Given the description of an element on the screen output the (x, y) to click on. 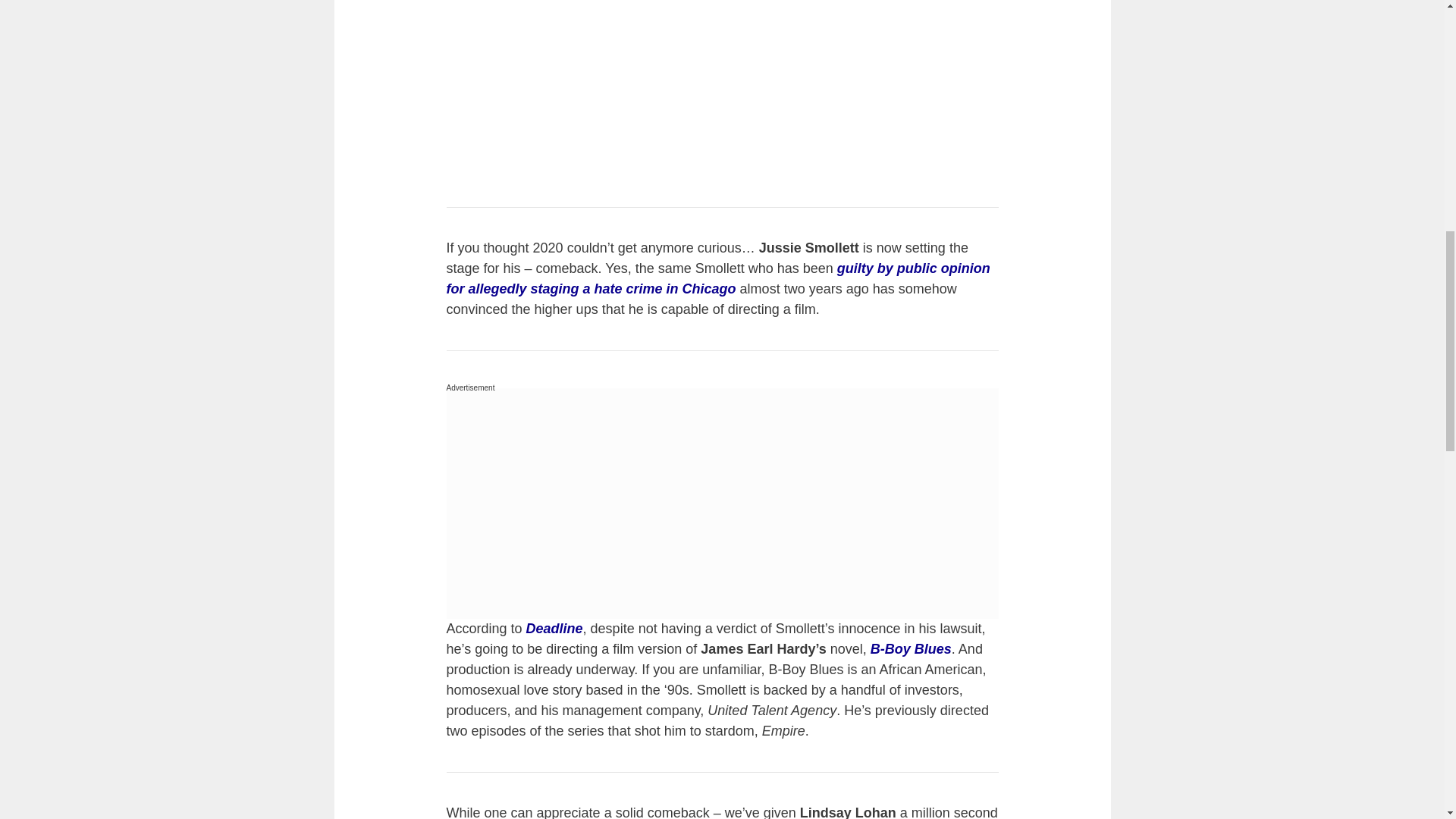
Deadline (554, 628)
B-Boy Blues (911, 648)
